Given the description of an element on the screen output the (x, y) to click on. 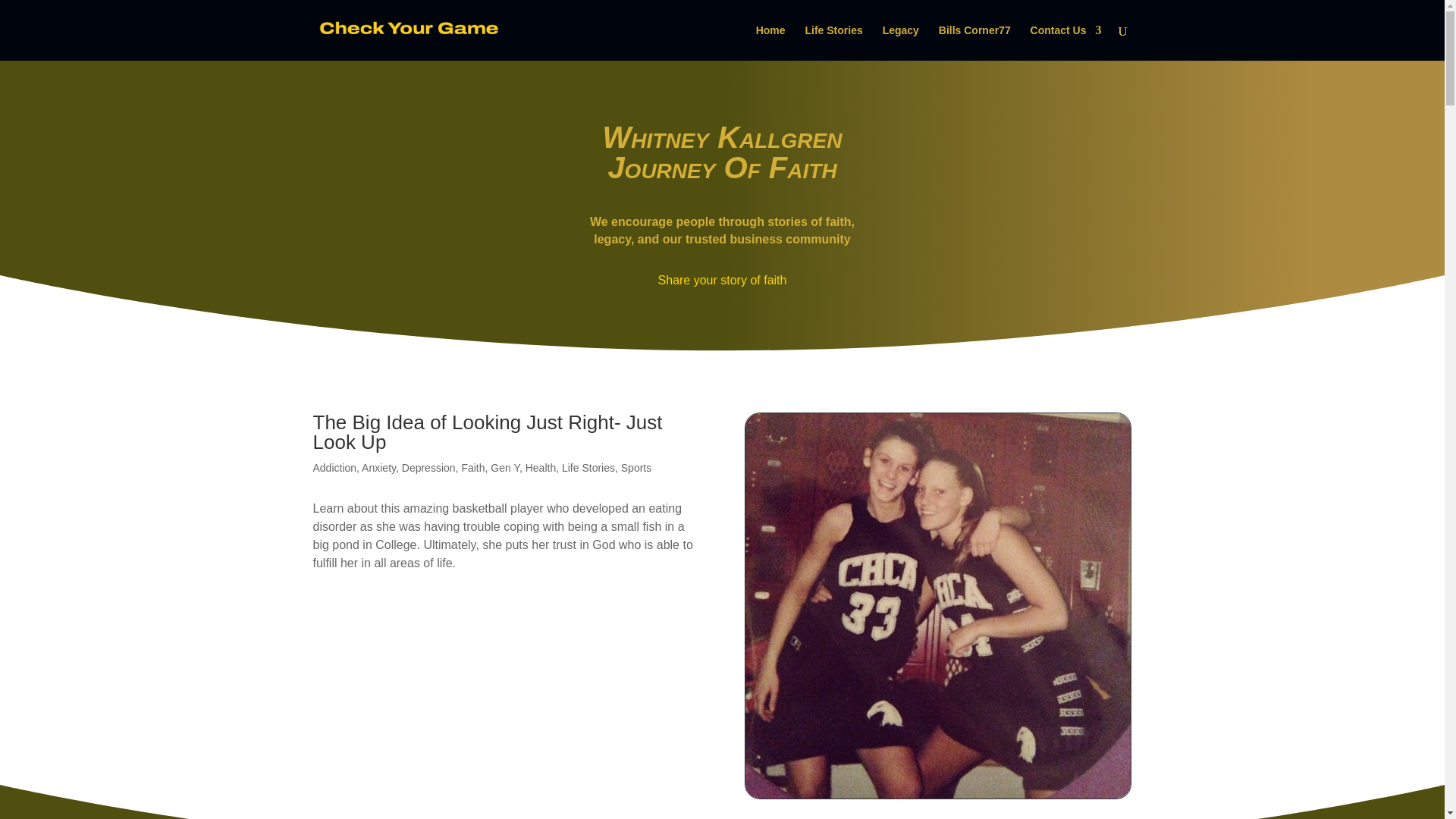
Contact Us (1066, 42)
Health (540, 467)
Depression (428, 467)
Anxiety (378, 467)
Sports (635, 467)
Gen Y (504, 467)
Bills Corner77 (974, 42)
Legacy (900, 42)
Faith (472, 467)
